Given the description of an element on the screen output the (x, y) to click on. 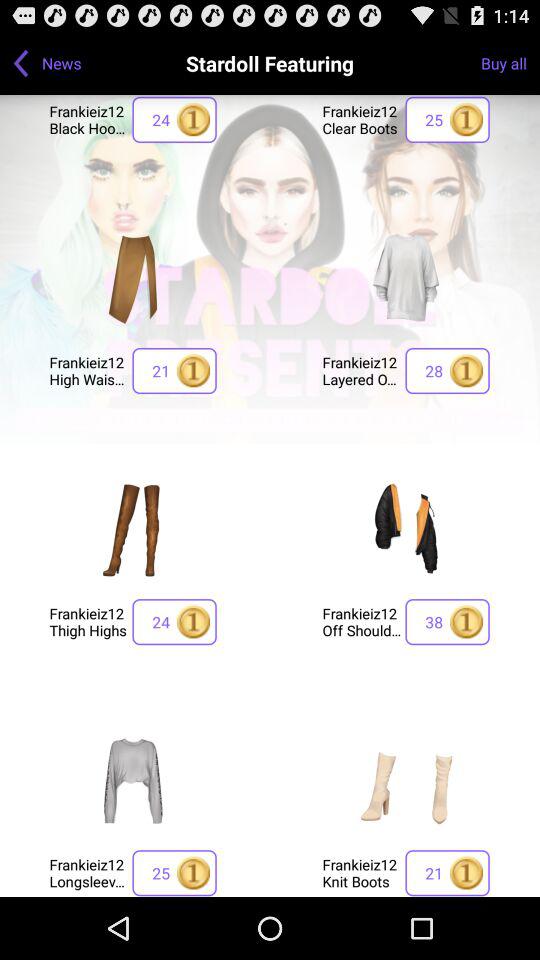
go to previous (21, 63)
